Given the description of an element on the screen output the (x, y) to click on. 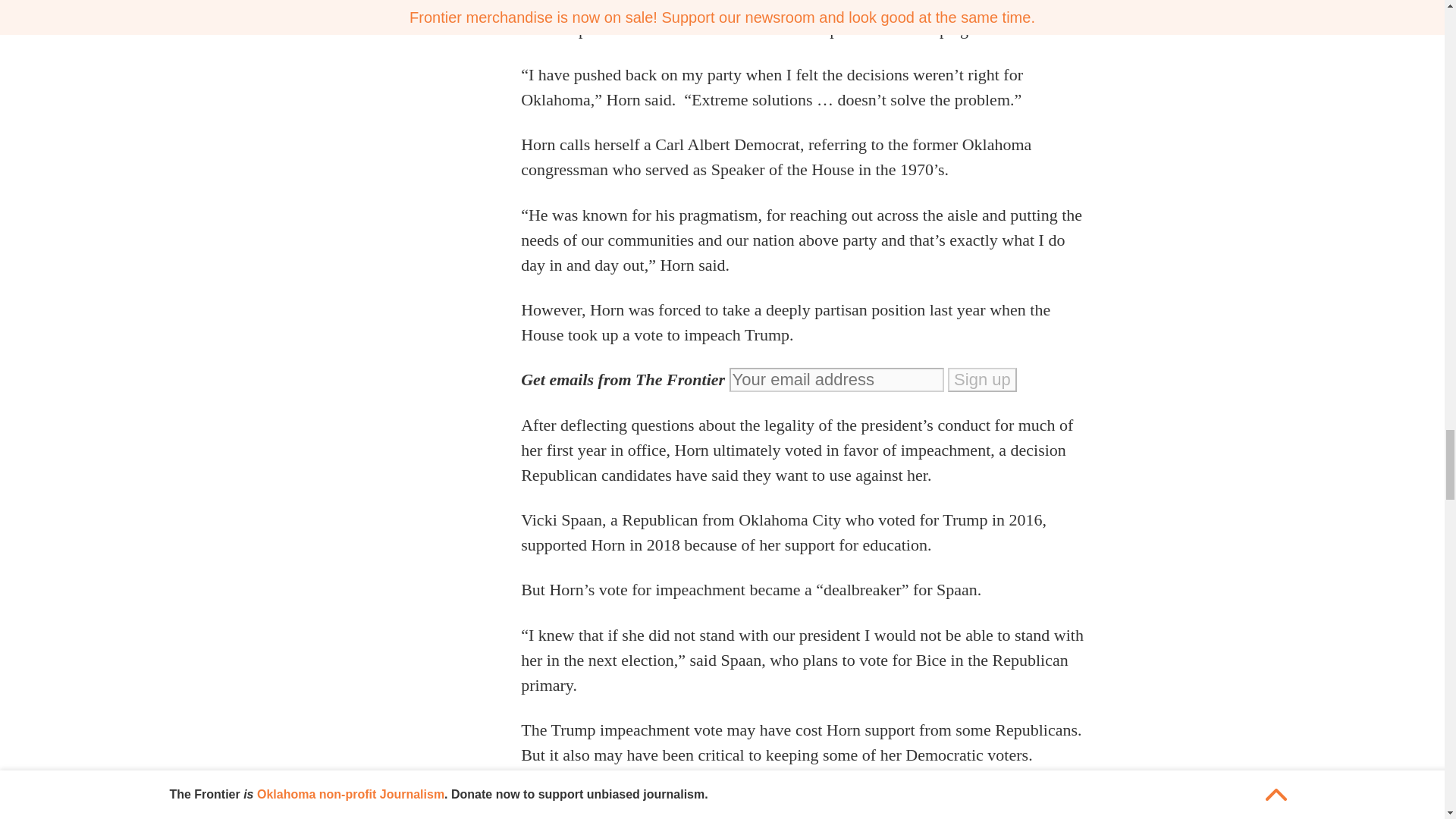
Sign up (981, 379)
